Given the description of an element on the screen output the (x, y) to click on. 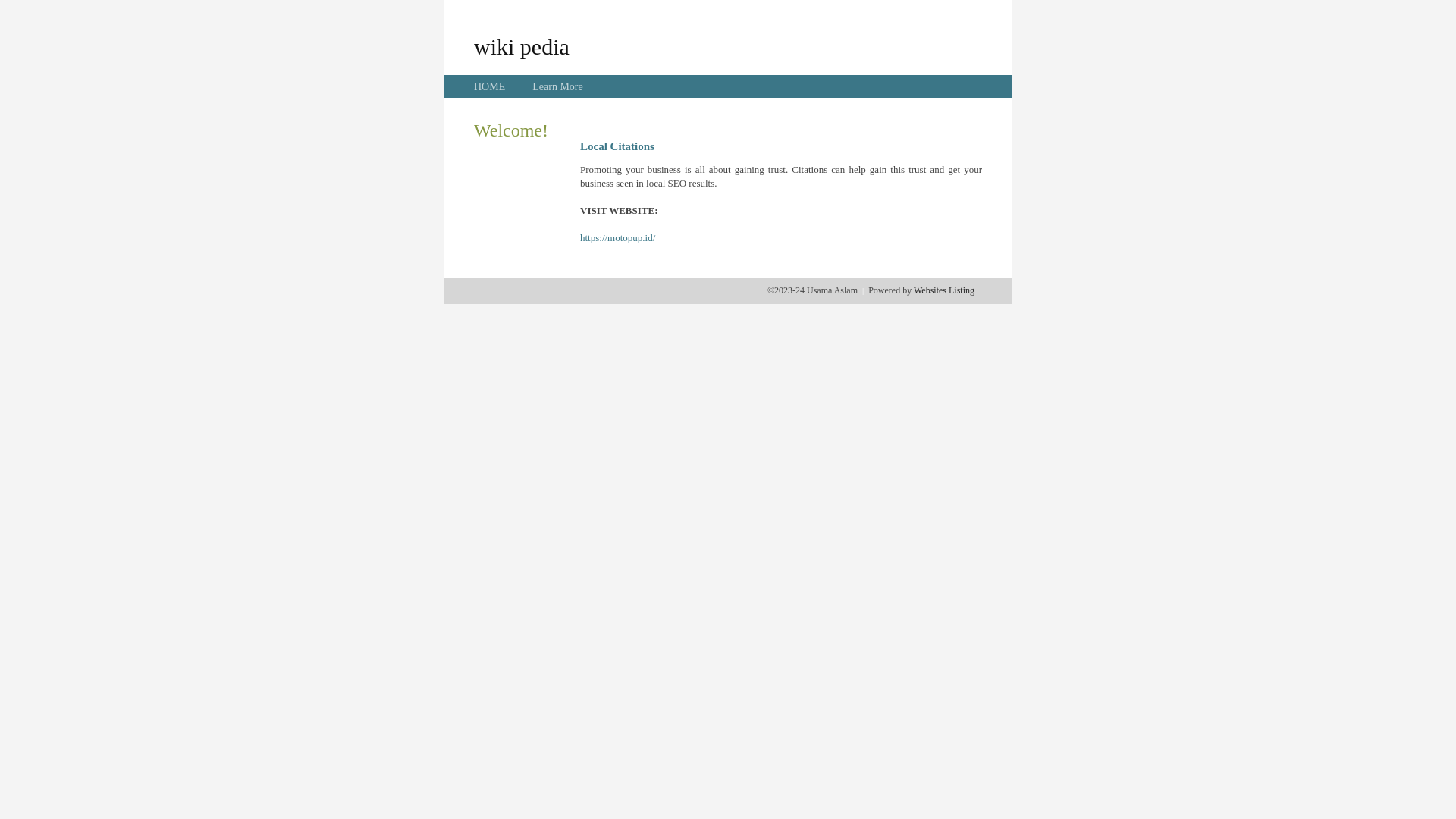
Learn More Element type: text (557, 86)
HOME Element type: text (489, 86)
Websites Listing Element type: text (943, 290)
https://motopup.id/ Element type: text (617, 237)
wiki pedia Element type: text (521, 46)
